Given the description of an element on the screen output the (x, y) to click on. 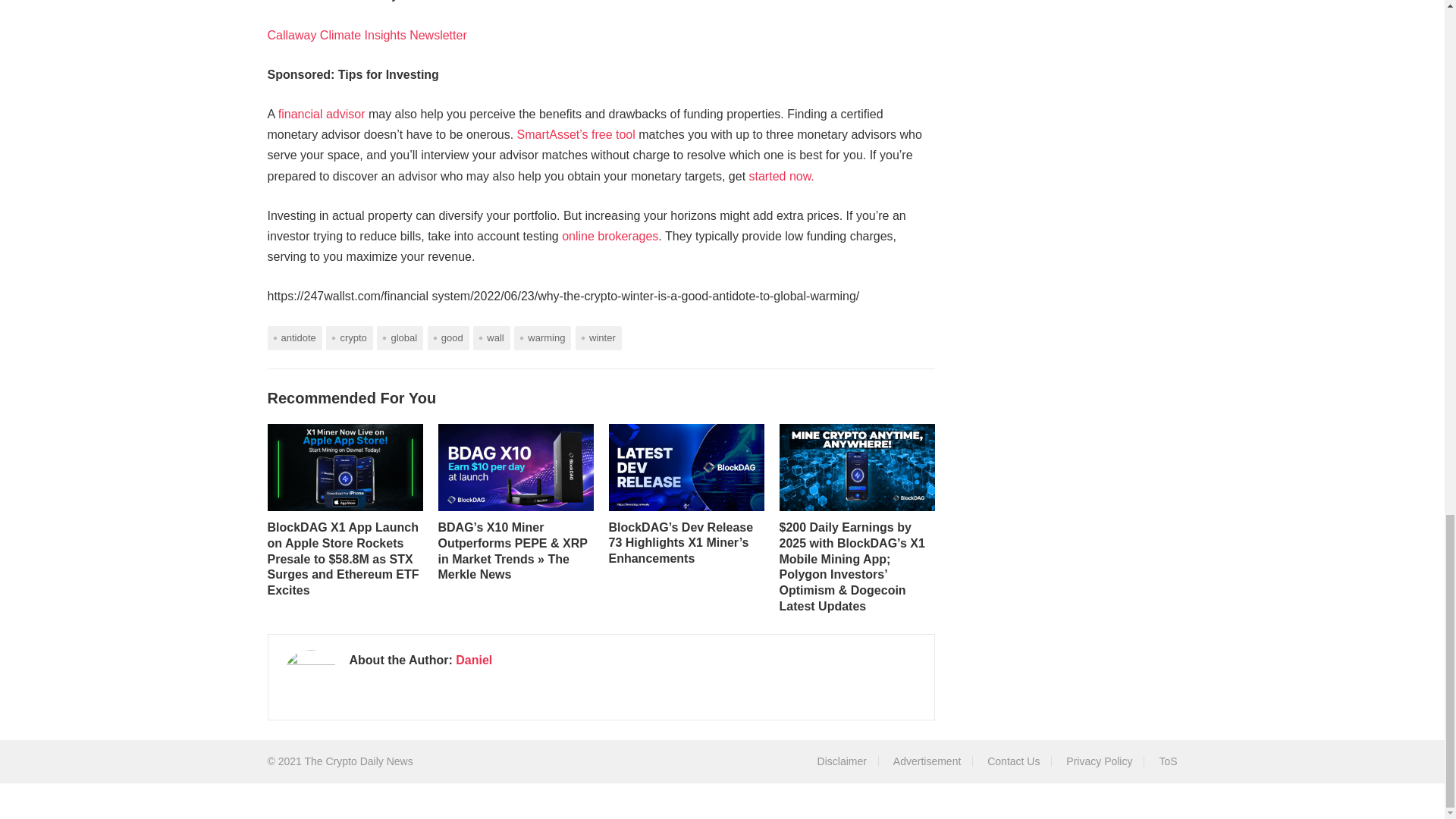
crypto (349, 337)
Callaway Climate Insights Newsletter (365, 34)
antidote (293, 337)
global (400, 337)
good (448, 337)
financial advisor (321, 113)
online brokerages (610, 236)
started now. (781, 175)
